Given the description of an element on the screen output the (x, y) to click on. 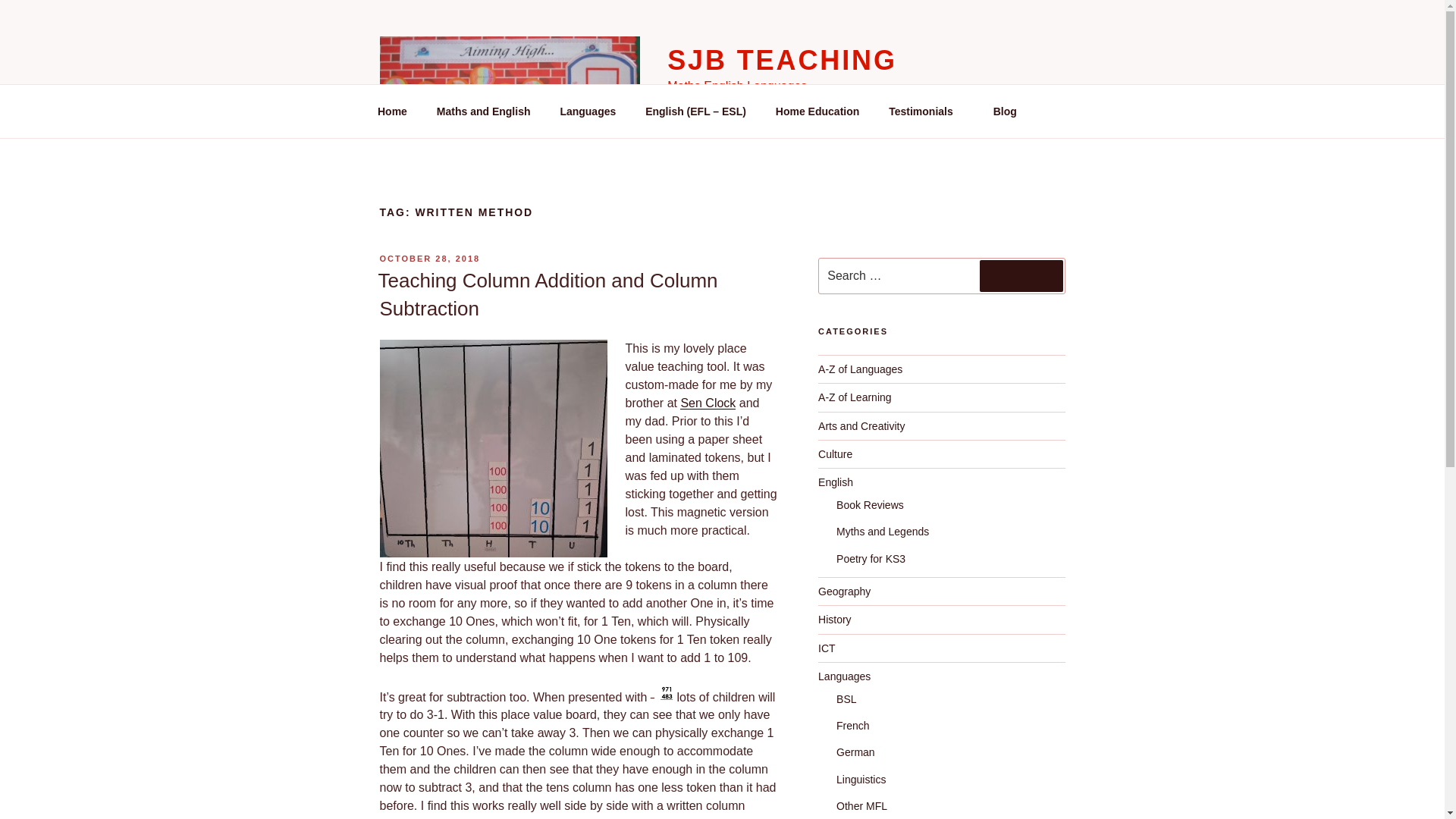
Linguistics (860, 779)
Geography (844, 591)
Culture (834, 453)
Poetry for KS3 (870, 558)
English (835, 481)
SJB TEACHING (781, 60)
Arts and Creativity (861, 426)
Blog (1004, 110)
Home (392, 110)
Sen Clock (707, 402)
